Given the description of an element on the screen output the (x, y) to click on. 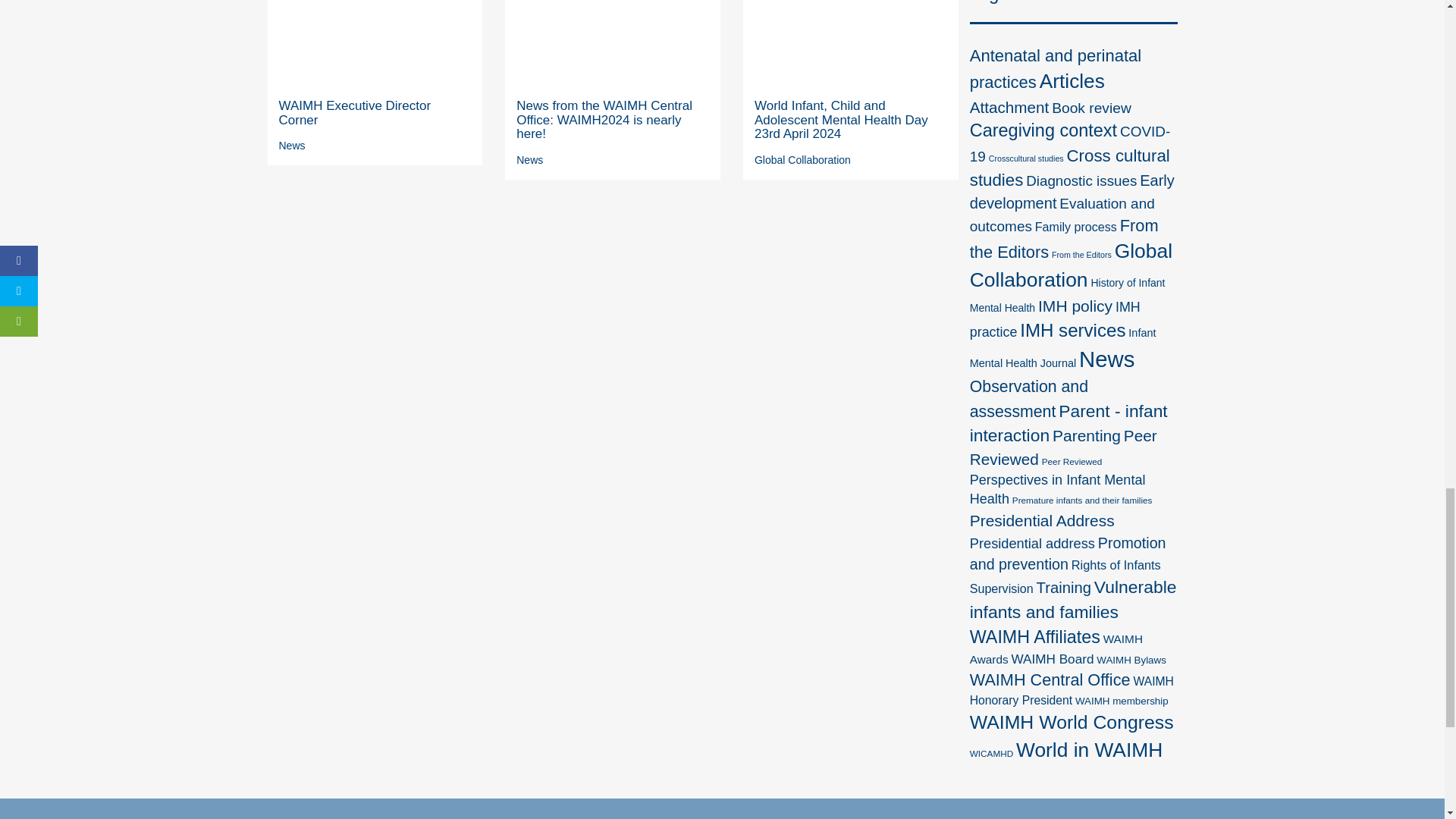
News (529, 159)
View all posts in News (292, 145)
News (292, 145)
View all posts in Global Collaboration (802, 159)
WAIMH Executive Director Corner (354, 112)
View all posts in News (529, 159)
Global Collaboration (802, 159)
